Given the description of an element on the screen output the (x, y) to click on. 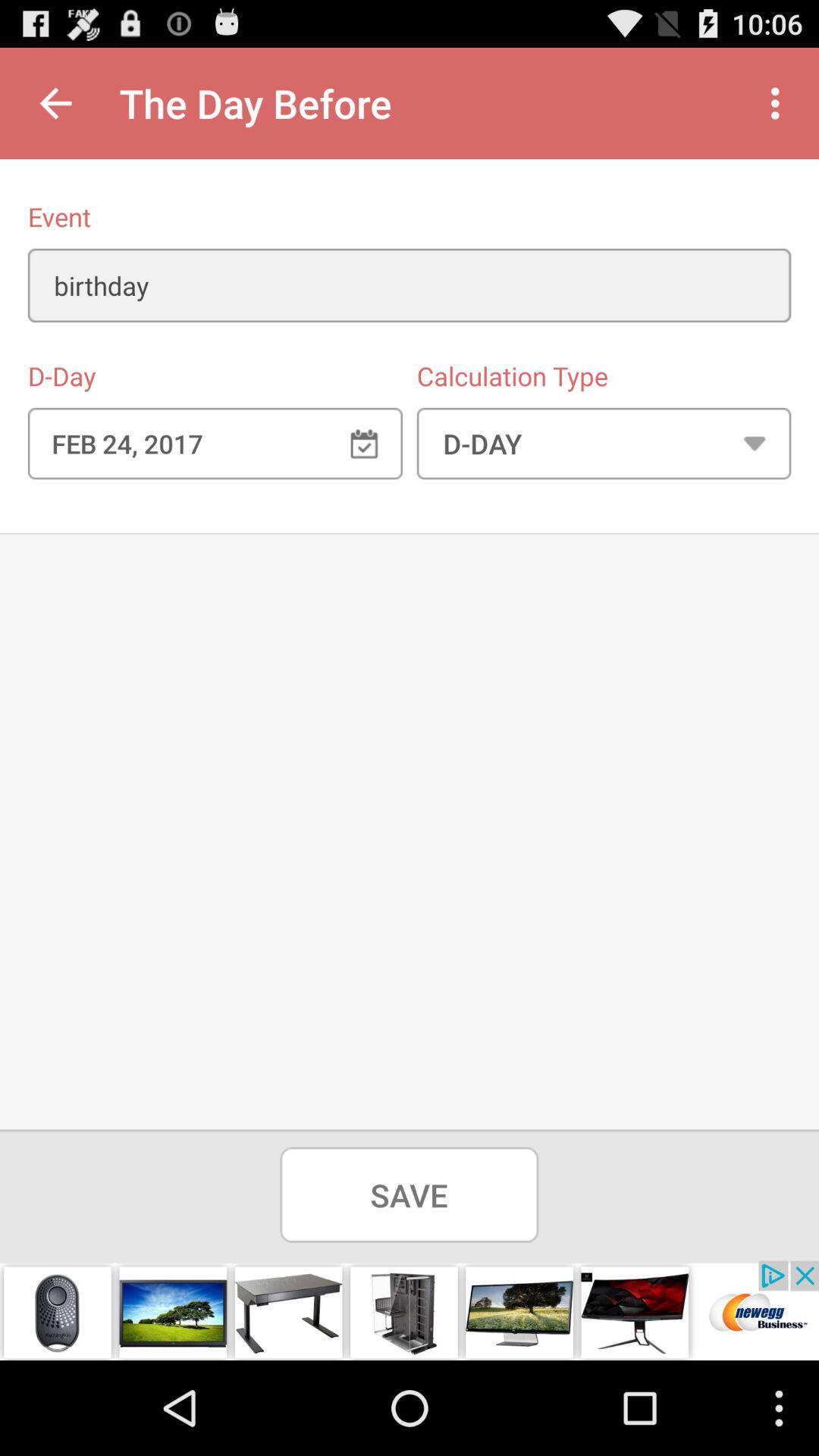
go to advertisement (409, 1310)
